Given the description of an element on the screen output the (x, y) to click on. 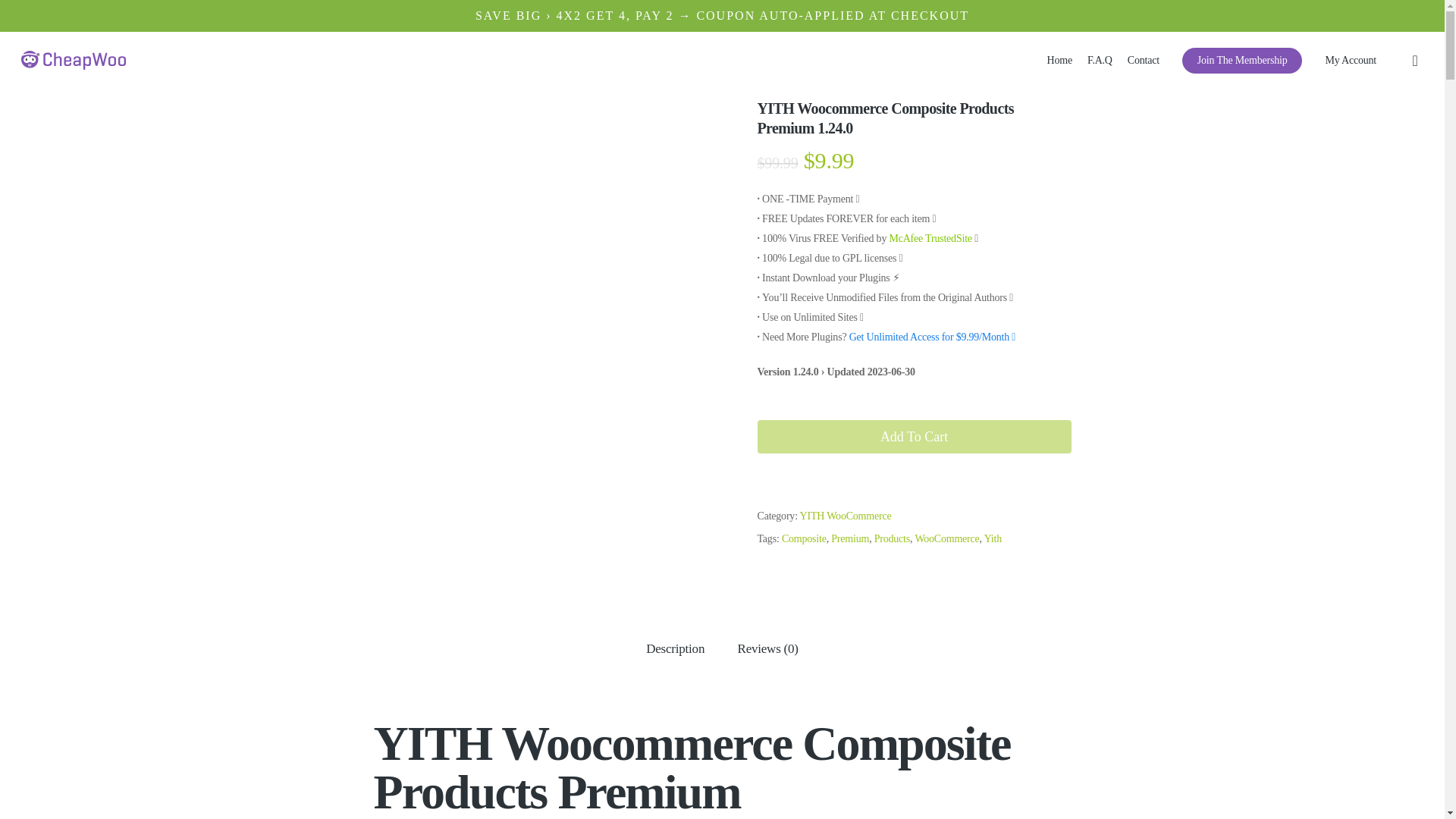
Home (1058, 60)
Description (675, 649)
NEW (1242, 60)
Premium (850, 538)
Yith (992, 538)
Add To Cart (913, 436)
Join The Membership (1242, 60)
F.A.Q (1099, 60)
YITH WooCommerce (845, 515)
Contact (1142, 60)
